Given the description of an element on the screen output the (x, y) to click on. 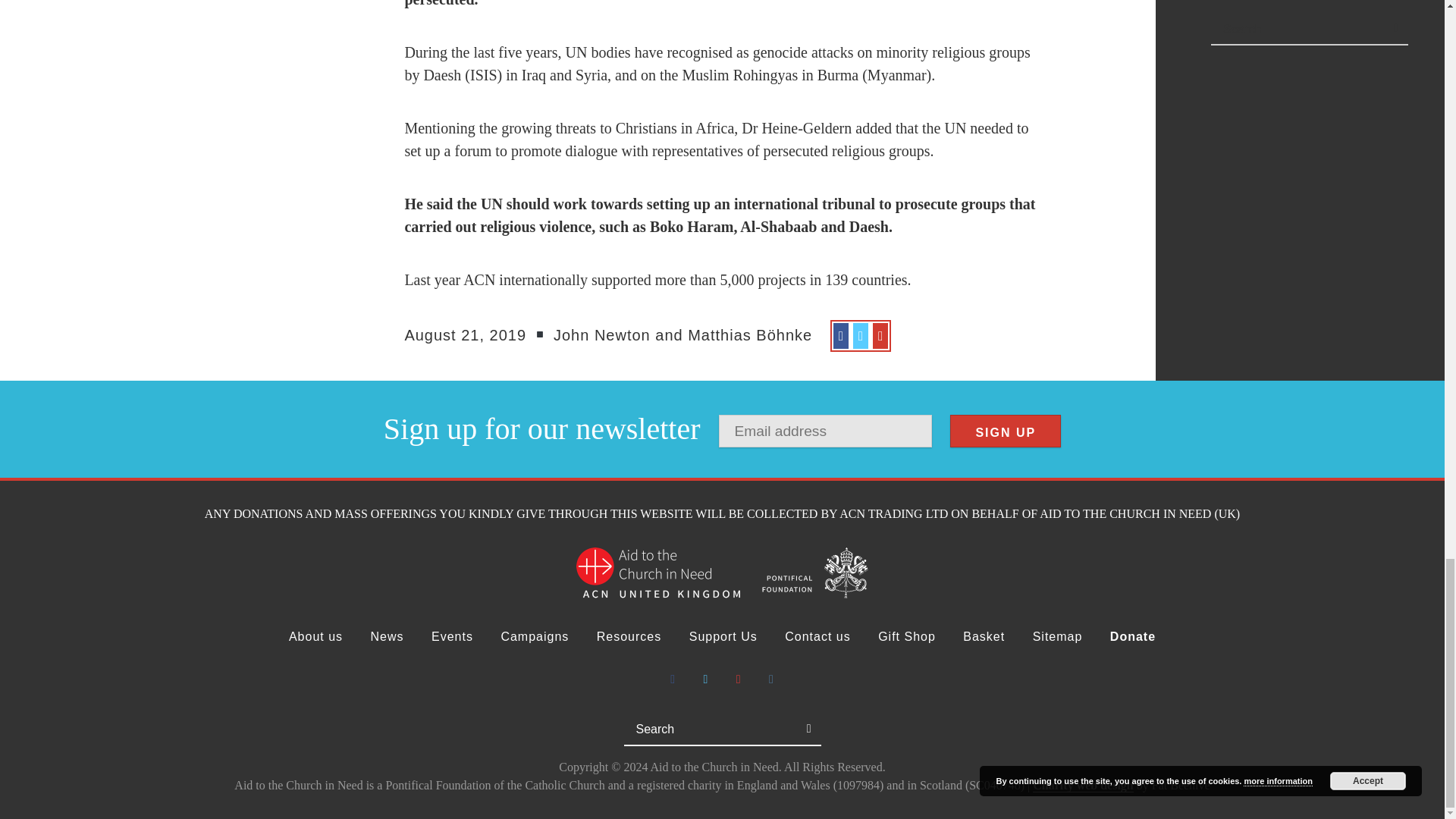
Sign up (1005, 430)
Search (830, 729)
Search (830, 729)
